Given the description of an element on the screen output the (x, y) to click on. 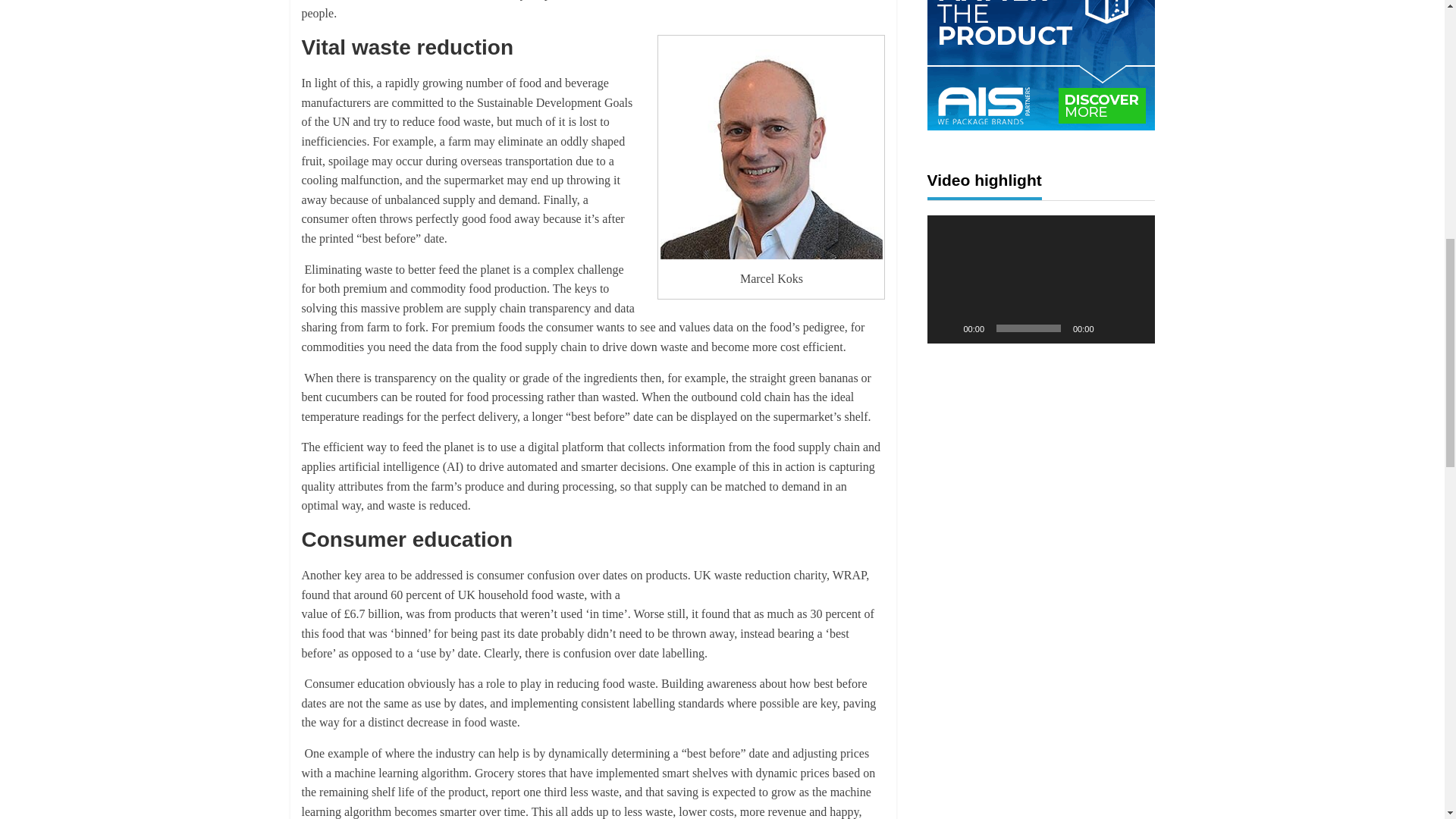
Play (946, 328)
Fullscreen (1133, 328)
Mute (1110, 328)
